Given the description of an element on the screen output the (x, y) to click on. 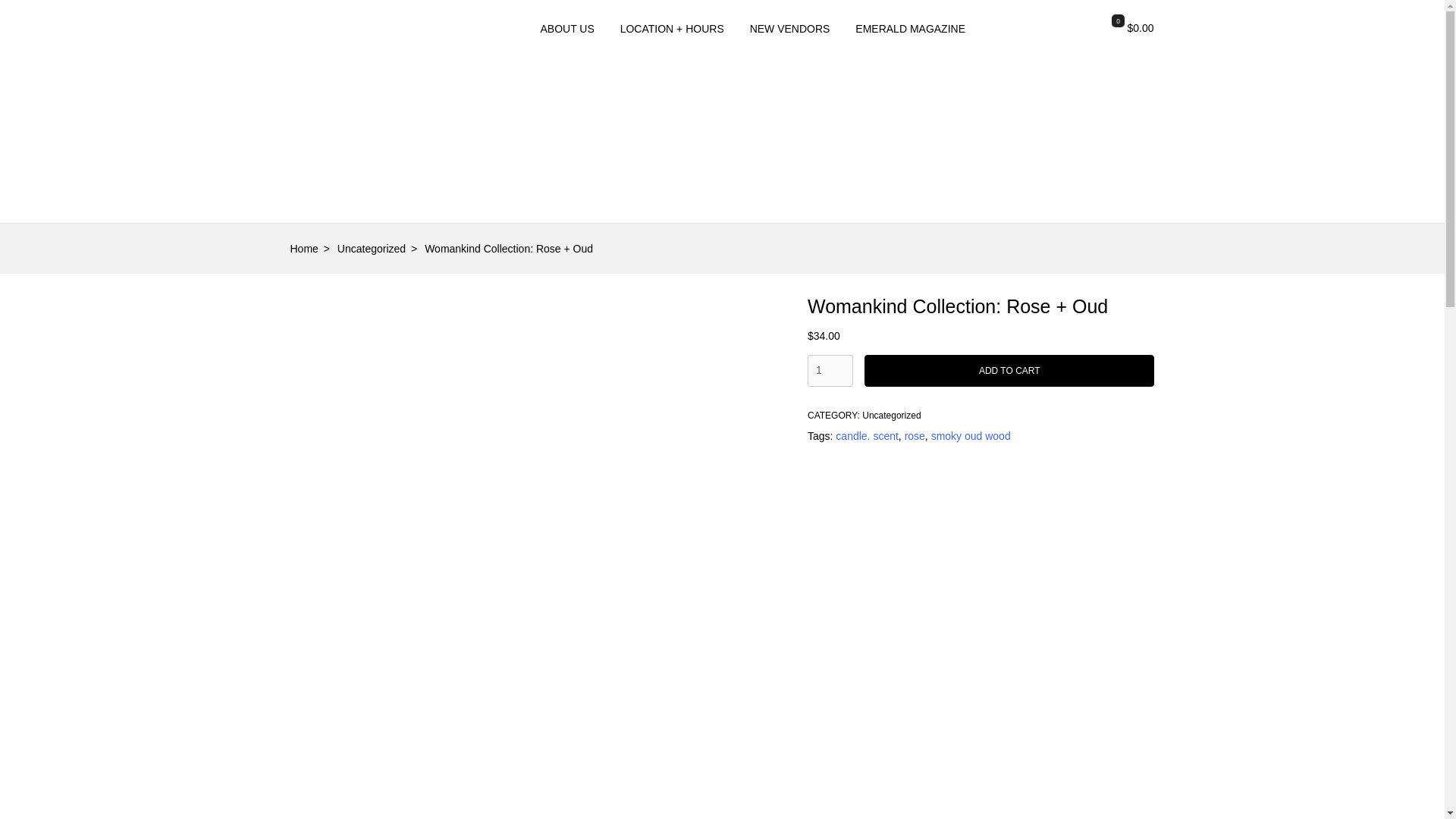
smoky oud wood (970, 435)
ADD TO CART (1009, 370)
ABOUT US (566, 28)
THE EMERALD DISPENSARY (365, 230)
Uncategorized (381, 248)
Home (312, 248)
rose (914, 435)
Uncategorized (890, 415)
1 (830, 370)
candle. scent (866, 435)
